Given the description of an element on the screen output the (x, y) to click on. 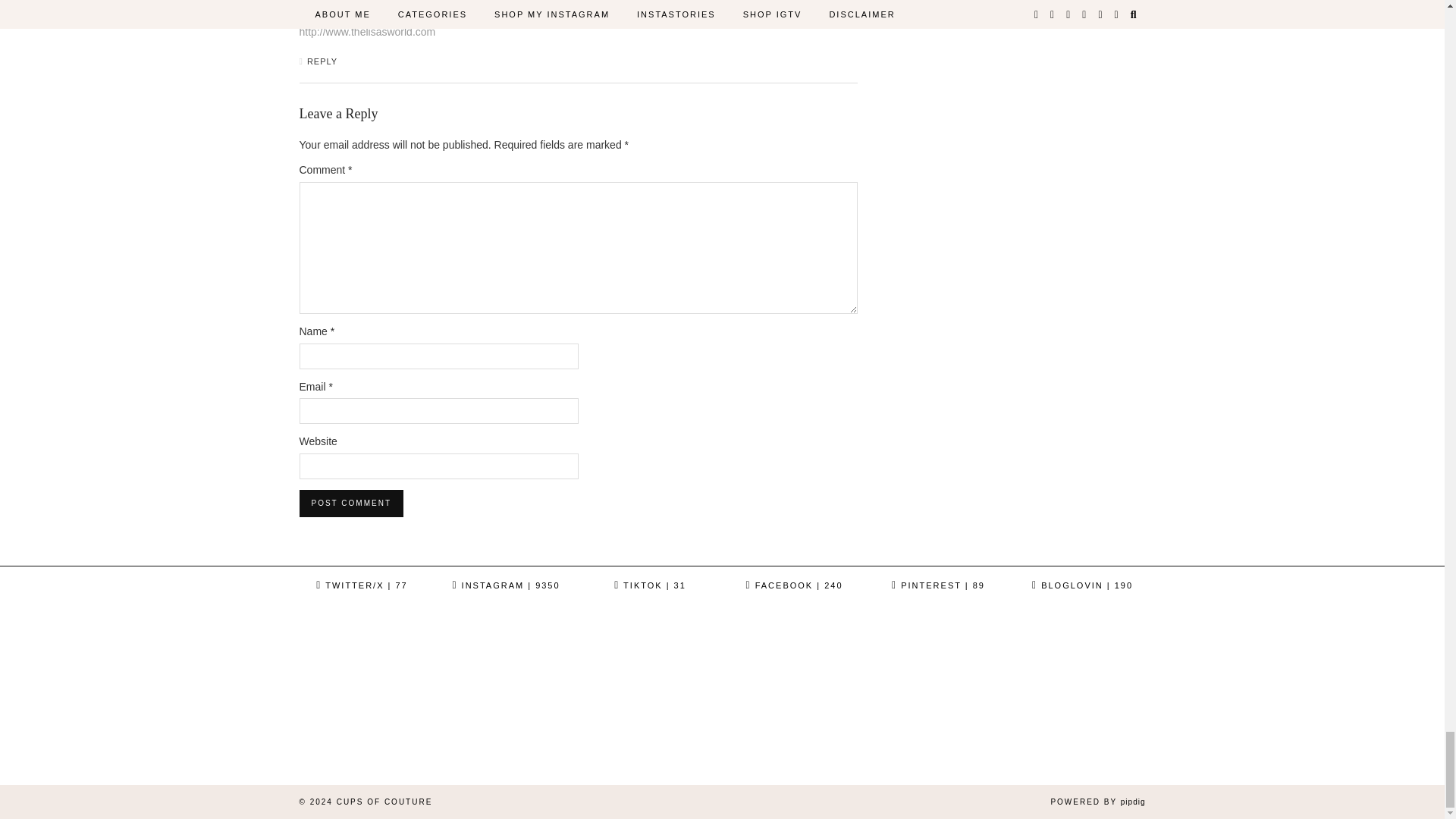
Post Comment (350, 502)
